Given the description of an element on the screen output the (x, y) to click on. 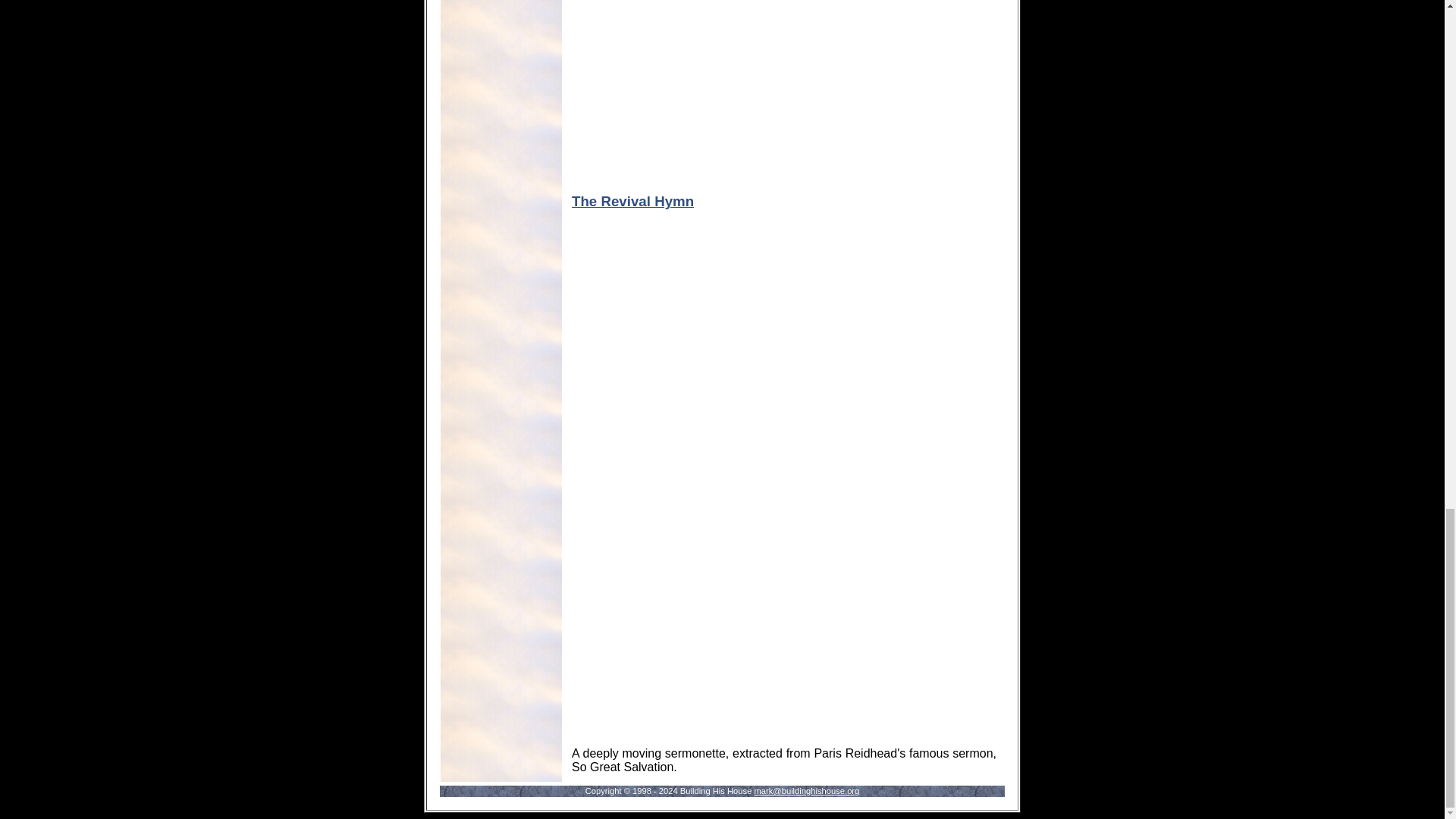
The Revival Hymn (633, 201)
